Given the description of an element on the screen output the (x, y) to click on. 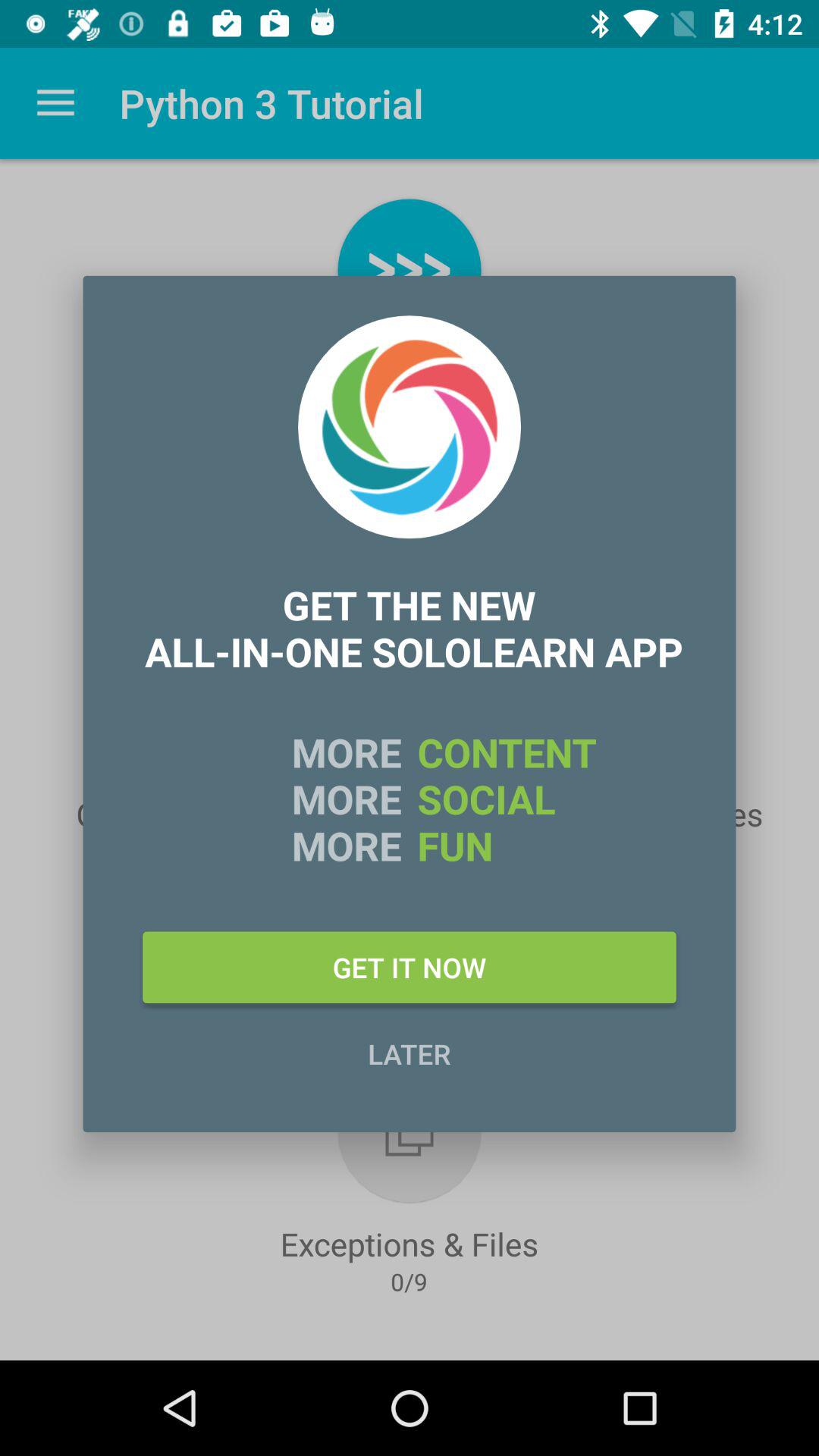
open the icon above the later item (409, 967)
